Given the description of an element on the screen output the (x, y) to click on. 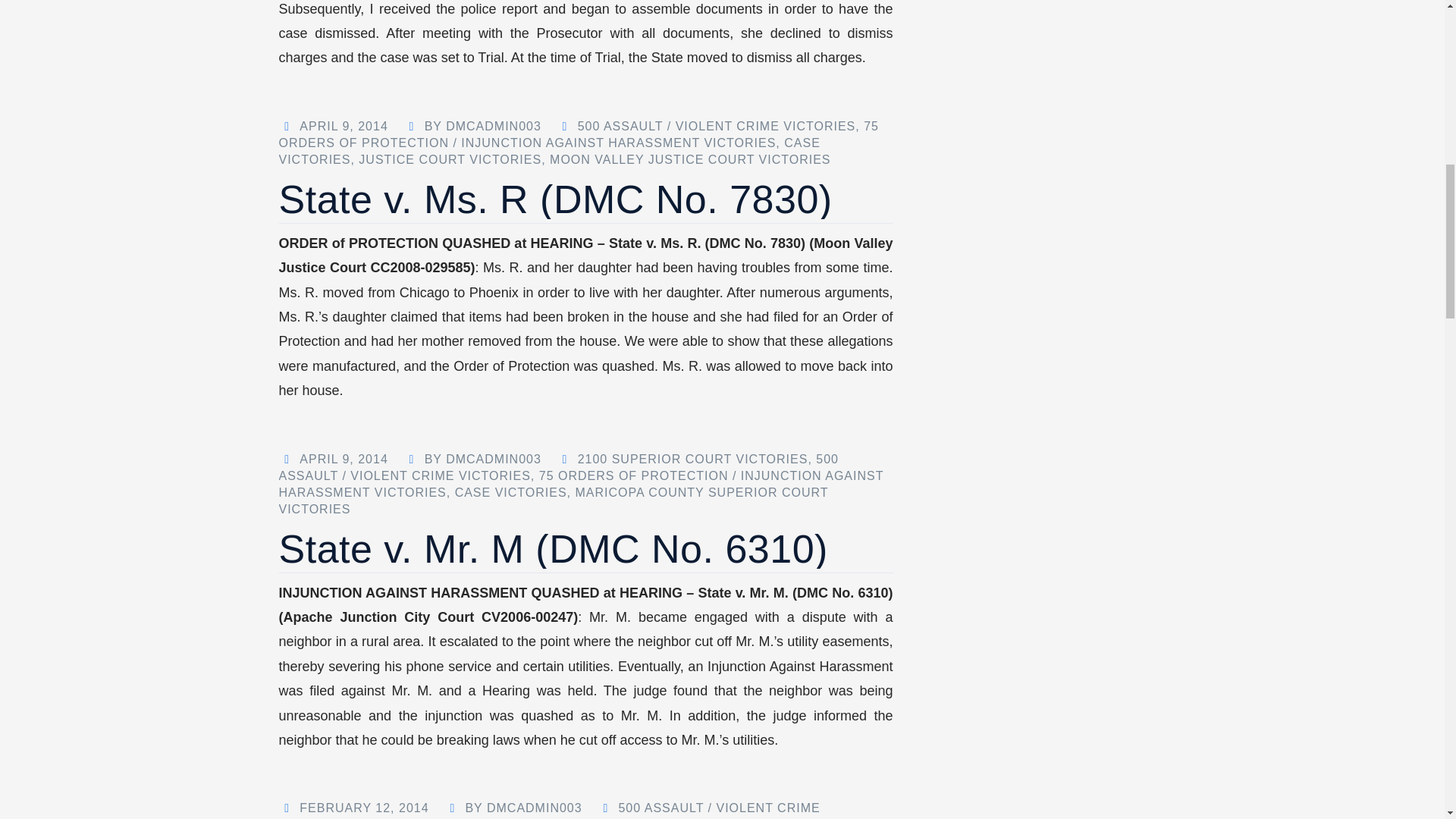
2100 SUPERIOR COURT VICTORIES (693, 459)
JUSTICE COURT VICTORIES (449, 159)
FEBRUARY 12, 2014 (363, 807)
CASE VICTORIES (550, 151)
CASE VICTORIES (510, 492)
DMCADMIN003 (534, 807)
MOON VALLEY JUSTICE COURT VICTORIES (689, 159)
MARICOPA COUNTY SUPERIOR COURT VICTORIES (553, 500)
DMCADMIN003 (493, 125)
APRIL 9, 2014 (343, 125)
